Given the description of an element on the screen output the (x, y) to click on. 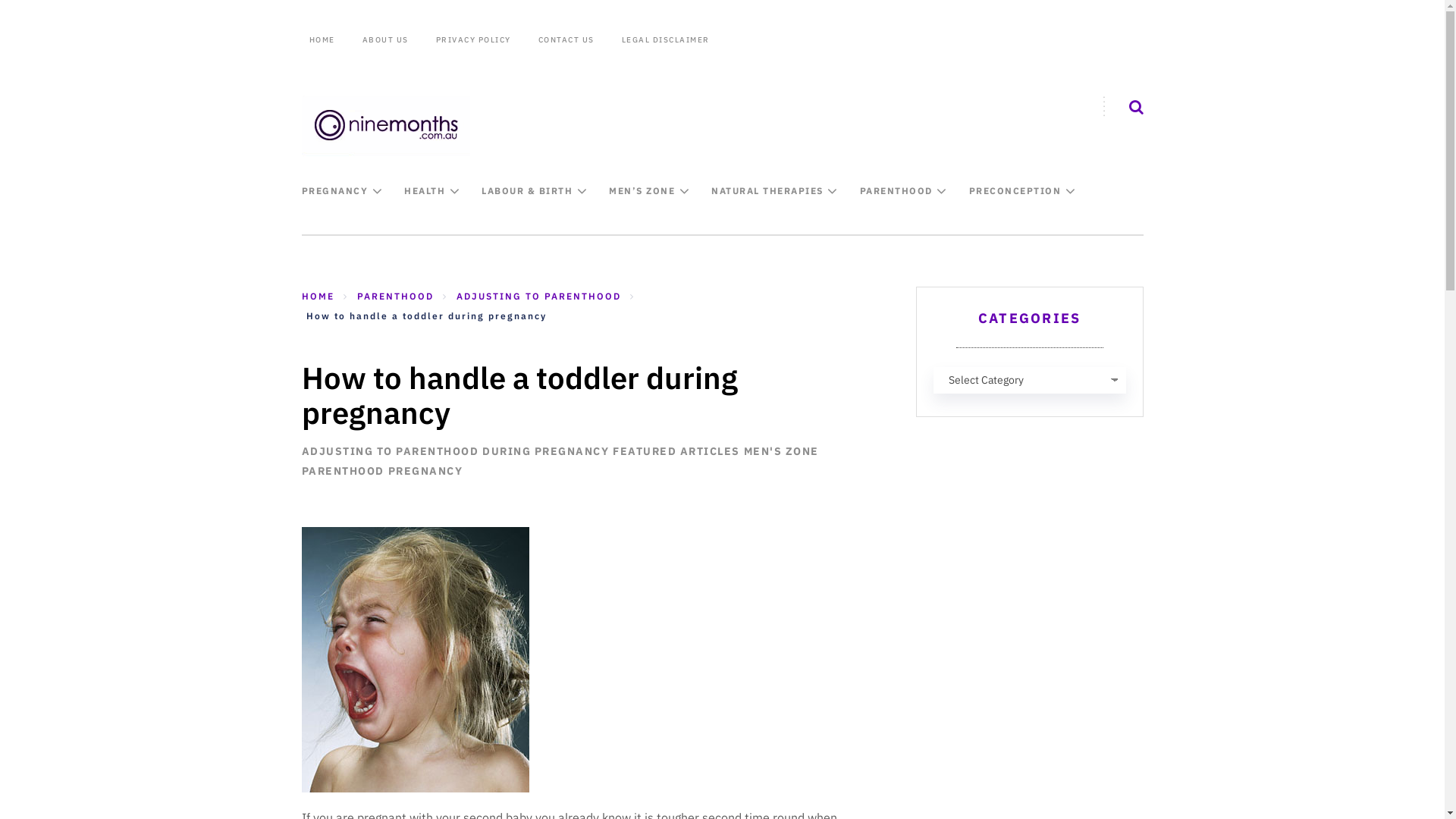
ADJUSTING TO PARENTHOOD Element type: text (538, 295)
PARENTHOOD Element type: text (394, 295)
PREGNANCY Element type: text (425, 470)
PARENTHOOD Element type: text (342, 470)
ABOUT US Element type: text (385, 39)
HOME Element type: text (324, 39)
HEALTH Element type: text (424, 191)
ADJUSTING TO PARENTHOOD Element type: text (390, 451)
PRECONCEPTION Element type: text (1015, 191)
PREGNANCY Element type: text (334, 191)
NATURAL THERAPIES Element type: text (767, 191)
LEGAL DISCLAIMER Element type: text (665, 39)
HOME Element type: text (317, 295)
PRIVACY POLICY Element type: text (472, 39)
PARENTHOOD Element type: text (895, 191)
CONTACT US Element type: text (566, 39)
LABOUR & BIRTH Element type: text (526, 191)
toddler Element type: hover (415, 659)
DURING PREGNANCY Element type: text (545, 451)
MEN'S ZONE Element type: text (780, 451)
FEATURED ARTICLES Element type: text (676, 451)
